Given the description of an element on the screen output the (x, y) to click on. 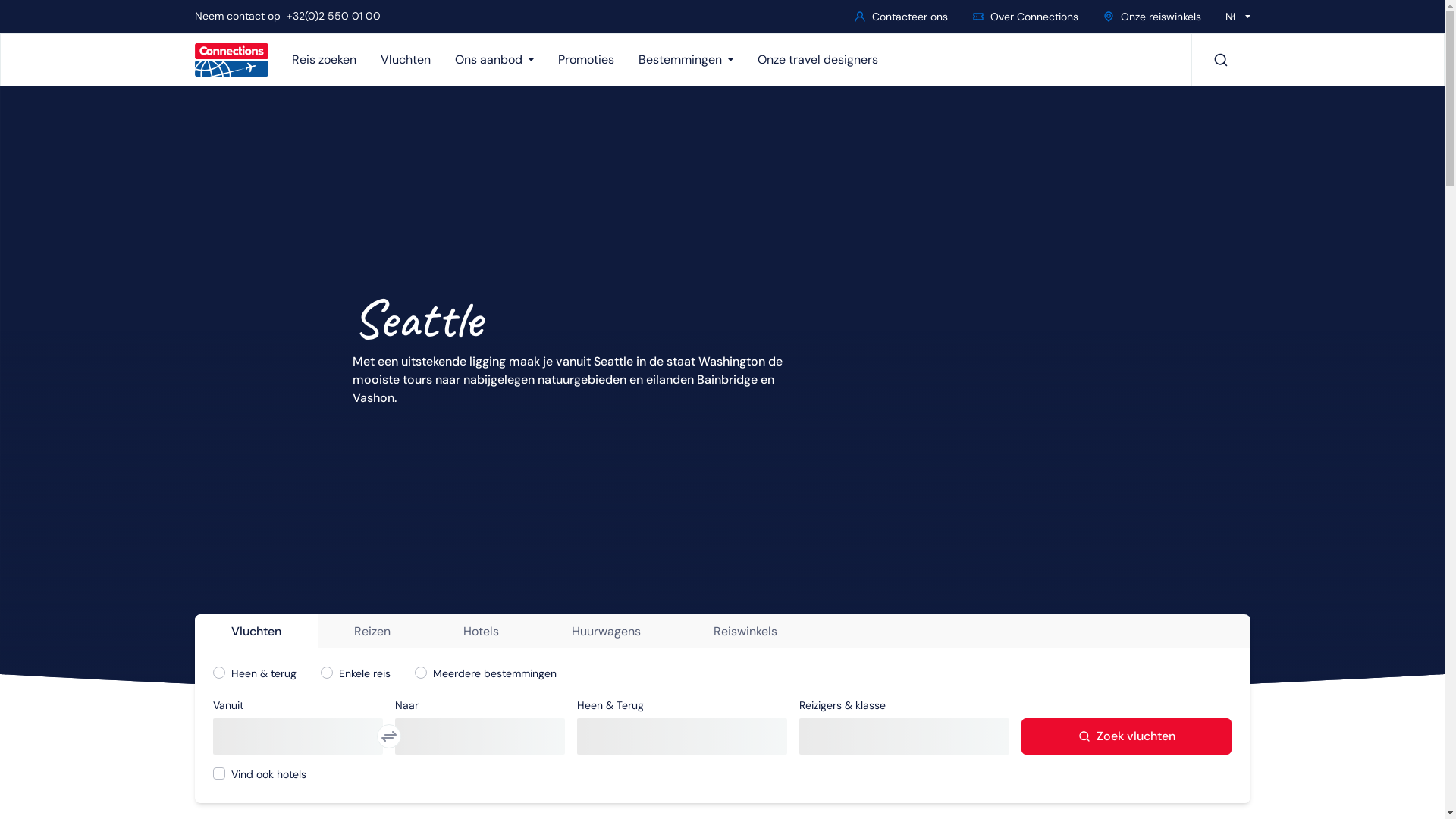
Hotels Element type: text (480, 631)
Vluchten Element type: text (411, 59)
Reis zoeken Element type: text (329, 59)
Contacteer ons Element type: text (900, 16)
Onze travel designers Element type: text (823, 59)
Reiswinkels Element type: text (744, 631)
Promoties Element type: text (592, 59)
Vluchten Element type: text (255, 631)
Reizen Element type: text (371, 631)
Zoek vluchten Element type: text (1126, 736)
Huurwagens Element type: text (606, 631)
+32(0)2 550 01 00 Element type: text (333, 15)
Onze reiswinkels Element type: text (1151, 16)
Over Connections Element type: text (1025, 16)
